Given the description of an element on the screen output the (x, y) to click on. 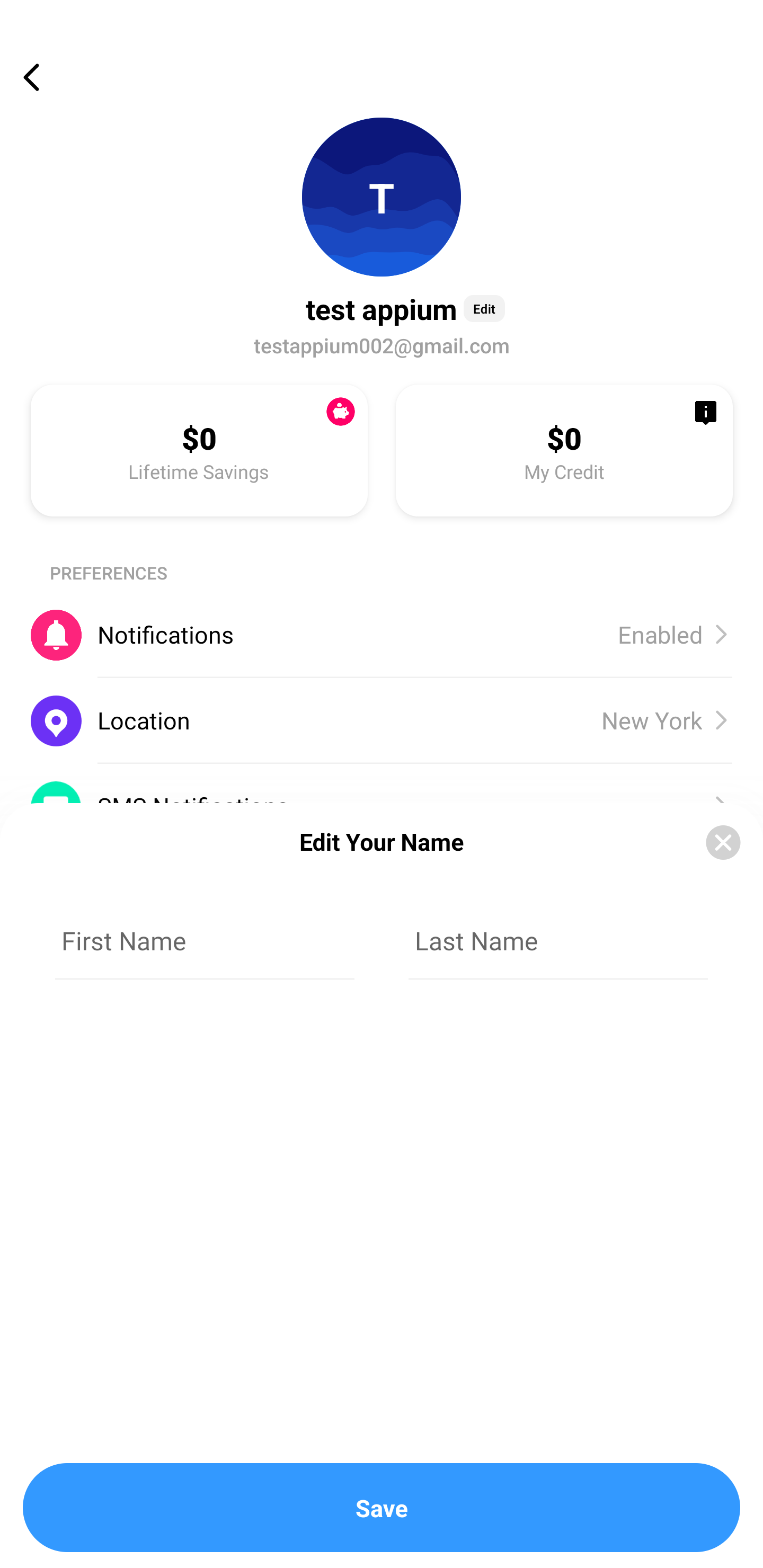
First Name (204, 940)
Last Name (558, 940)
Save (381, 1507)
